Given the description of an element on the screen output the (x, y) to click on. 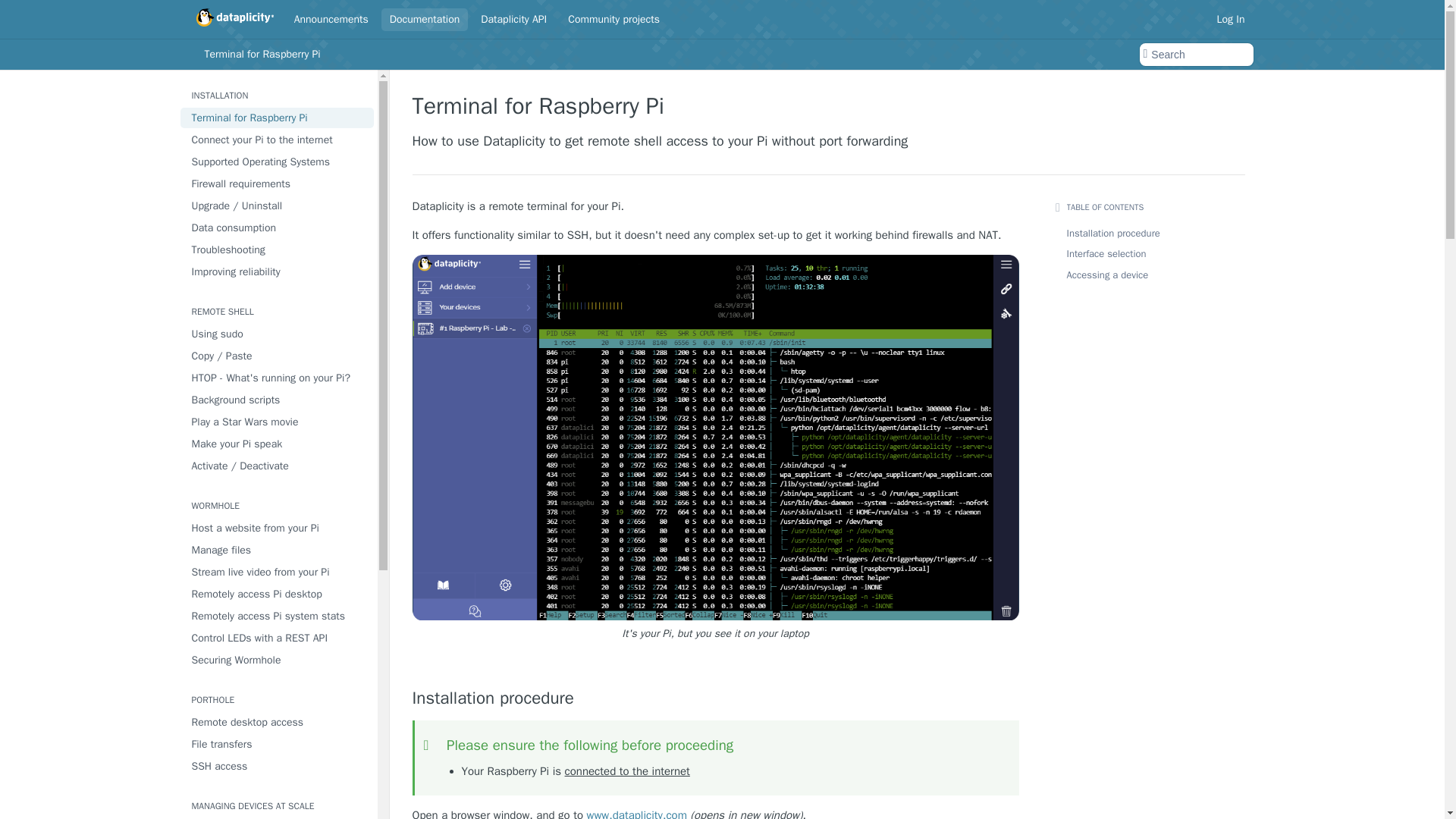
HTOP - What's running on your Pi? (277, 377)
Background scripts (277, 399)
Host a website from your Pi (277, 527)
Search (1195, 54)
Make your Pi speak (277, 444)
Announcements (331, 18)
Dataplicity API (512, 18)
Troubleshooting (277, 249)
Community projects (613, 18)
Manage files (277, 549)
